Given the description of an element on the screen output the (x, y) to click on. 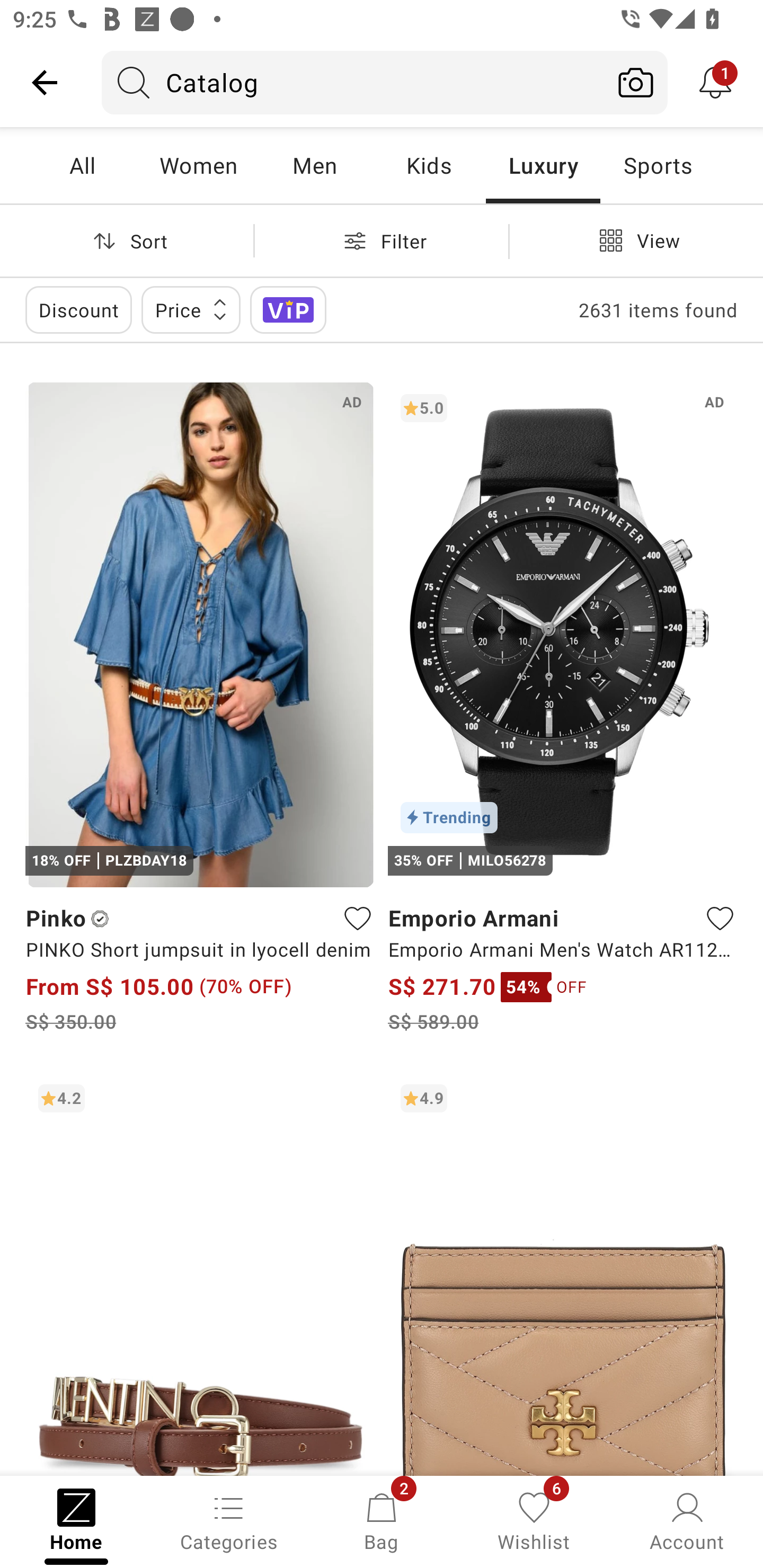
Navigate up (44, 82)
Catalog (352, 82)
All (82, 165)
Women (198, 165)
Men (314, 165)
Kids (428, 165)
Sports (657, 165)
Sort (126, 240)
Filter (381, 240)
View (636, 240)
Discount (78, 309)
Price (190, 309)
4.2 (200, 1272)
4.9 (562, 1272)
Categories (228, 1519)
Bag, 2 new notifications Bag (381, 1519)
Wishlist, 6 new notifications Wishlist (533, 1519)
Account (686, 1519)
